Given the description of an element on the screen output the (x, y) to click on. 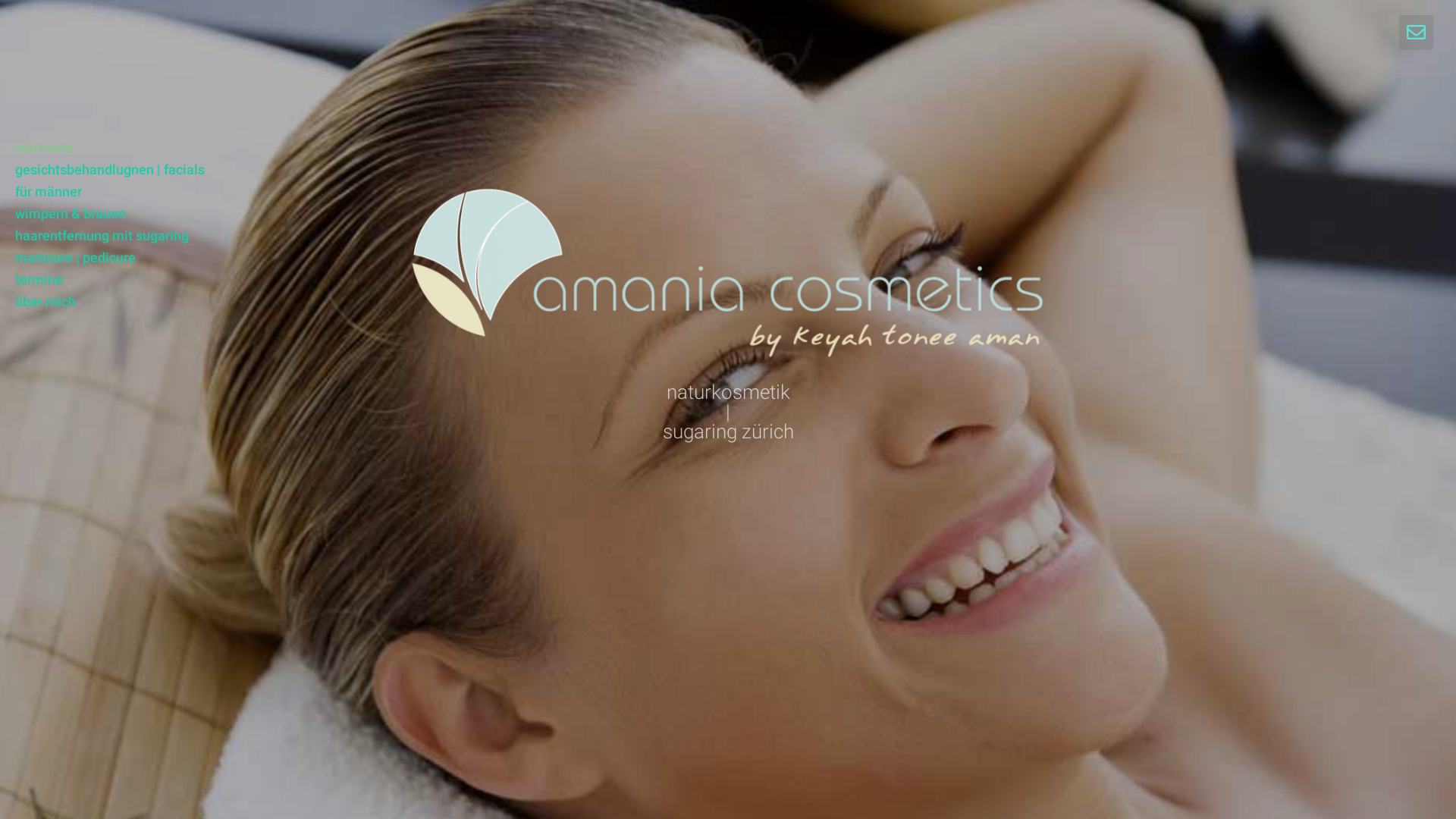
wimpern & brauen Element type: text (109, 213)
manicure | pedicure Element type: text (109, 257)
startseite Element type: text (109, 147)
termine Element type: text (109, 279)
haarentfernung mit sugaring Element type: text (109, 235)
gesichtsbehandlugnen | facials Element type: text (109, 169)
